Given the description of an element on the screen output the (x, y) to click on. 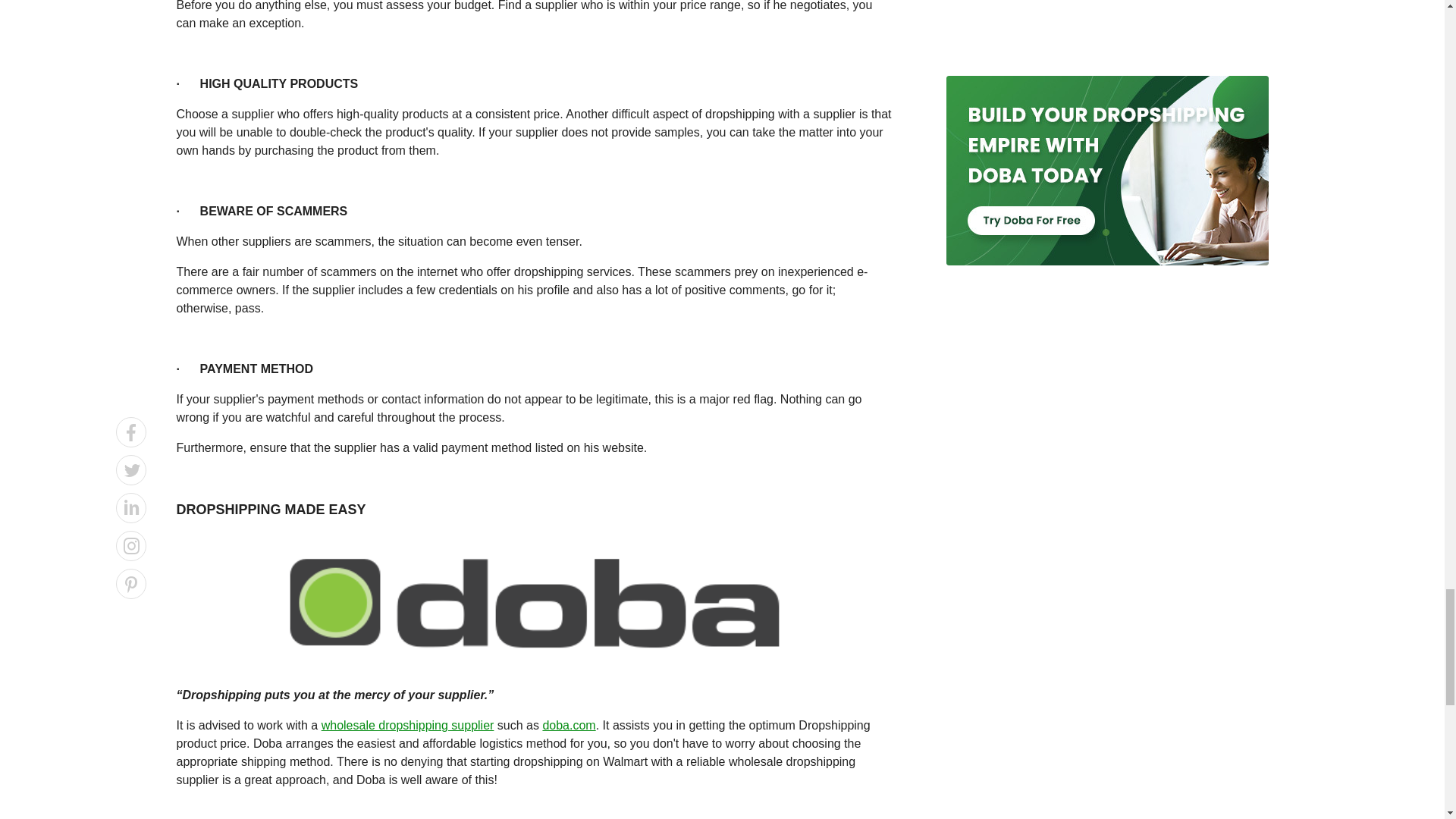
wholesale dropshipping supplier (408, 725)
doba.com (568, 725)
